Given the description of an element on the screen output the (x, y) to click on. 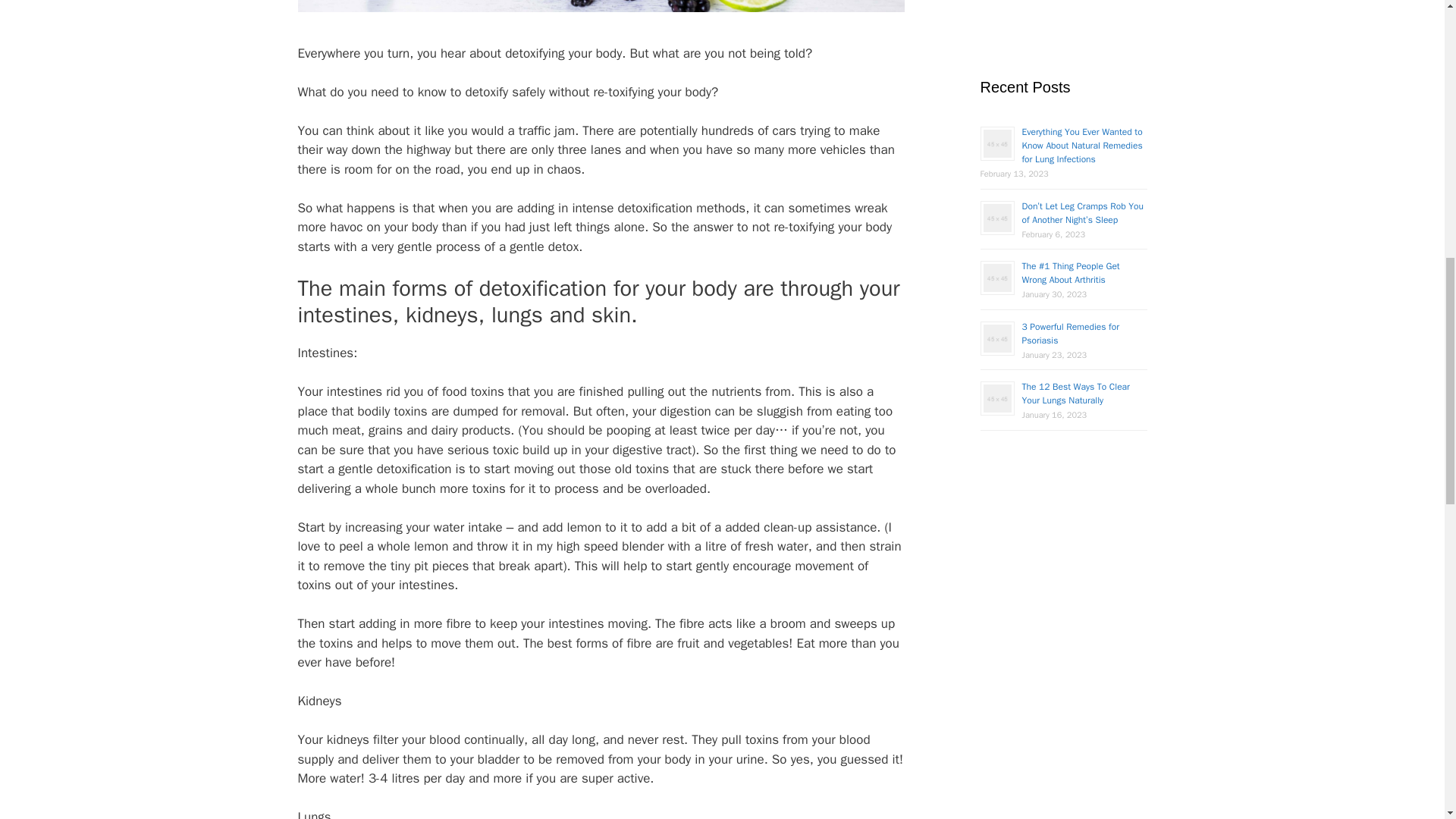
Scroll back to top (1406, 720)
